Given the description of an element on the screen output the (x, y) to click on. 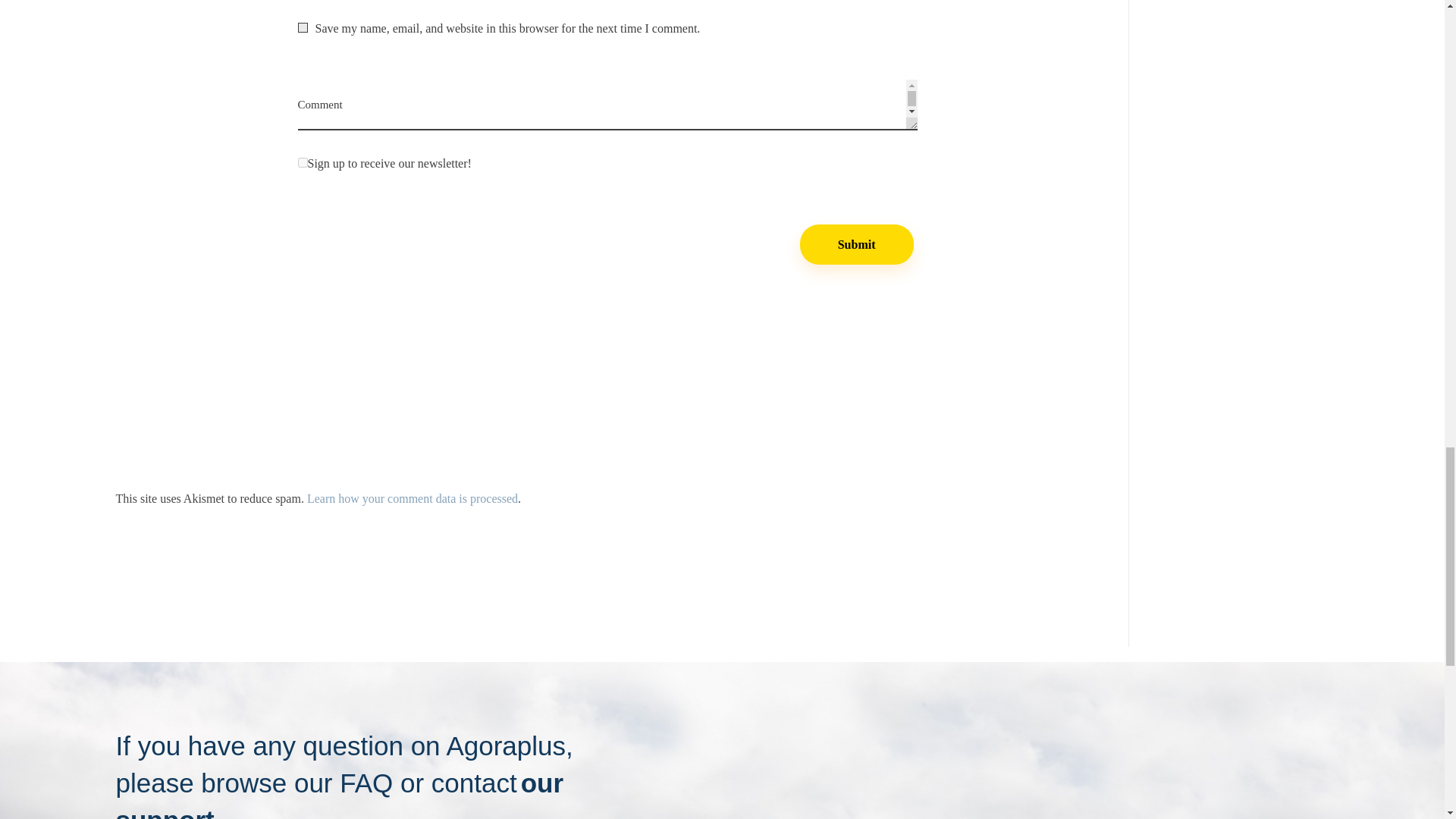
yes (302, 27)
Submit (856, 244)
1 (302, 162)
Learn how your comment data is processed (412, 498)
Submit (856, 244)
